Given the description of an element on the screen output the (x, y) to click on. 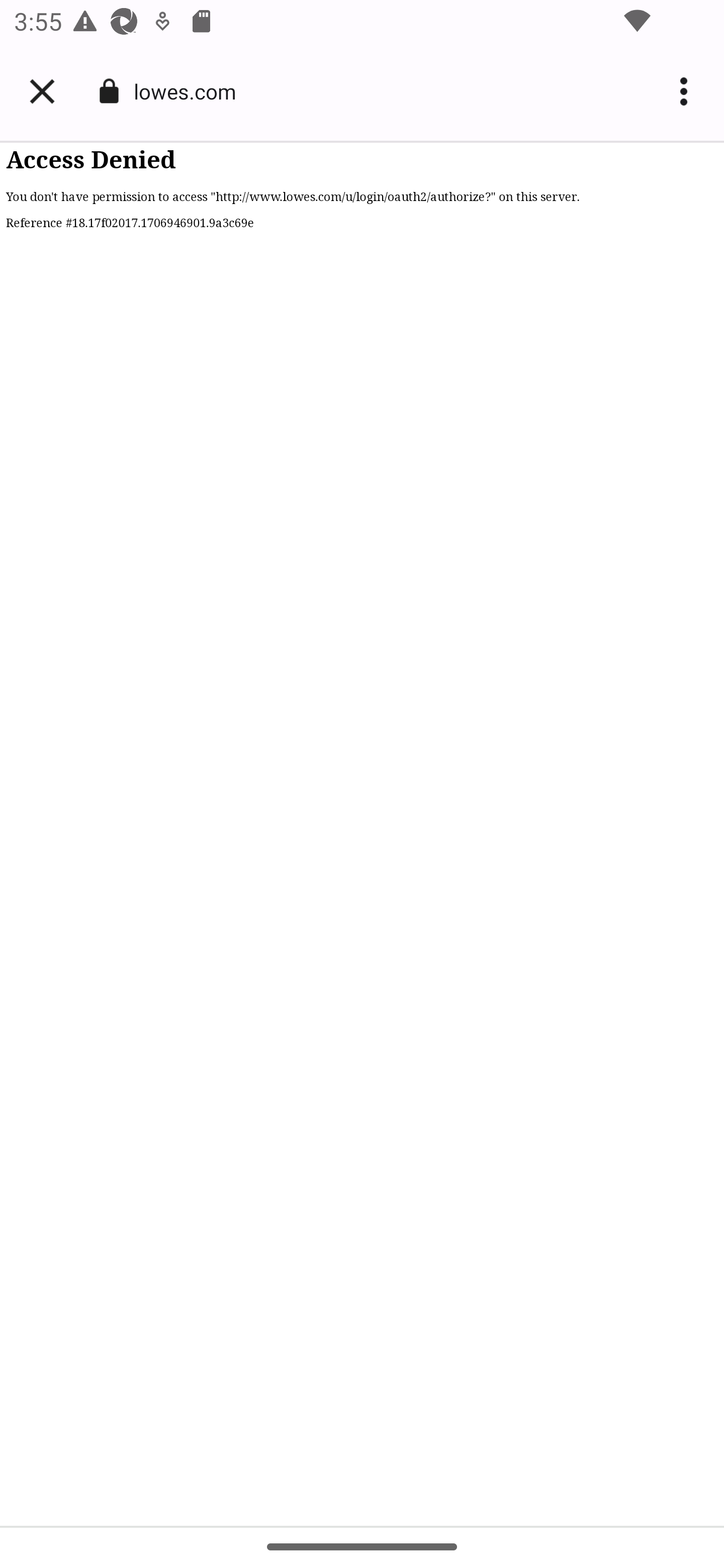
Close tab (42, 91)
More options (687, 91)
Connection is secure (108, 91)
lowes.com (191, 90)
